Given the description of an element on the screen output the (x, y) to click on. 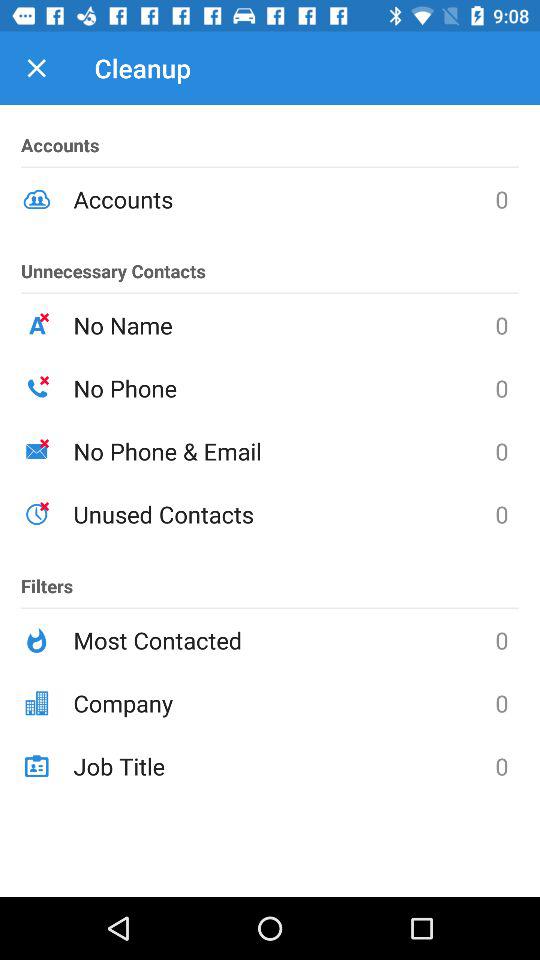
flip to company item (284, 703)
